Given the description of an element on the screen output the (x, y) to click on. 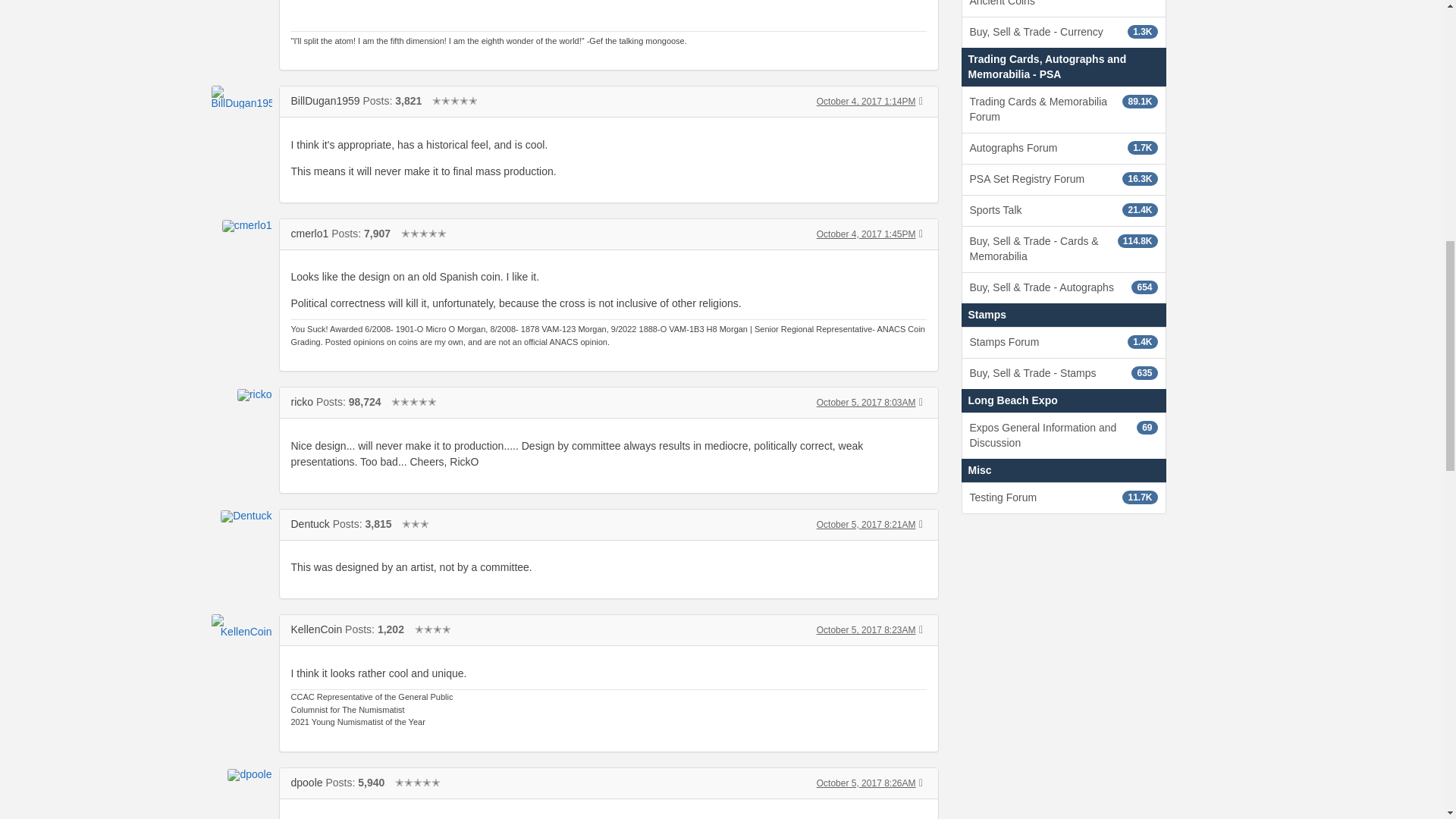
cmerlo1 (240, 225)
Dentuck (310, 523)
cmerlo1 (310, 233)
Master Collector (423, 233)
October 4, 2017 1:14PM (865, 101)
October 5, 2017 8:26AM (865, 783)
October 4, 2017 1:45PM (865, 234)
dpoole (307, 782)
ricko (302, 401)
October 4, 2017 1:14PM (865, 101)
KellenCoin (316, 629)
October 4, 2017 1:45PM (865, 234)
Master Collector (454, 101)
BillDugan1959 (325, 101)
October 5, 2017 8:23AM (865, 629)
